Given the description of an element on the screen output the (x, y) to click on. 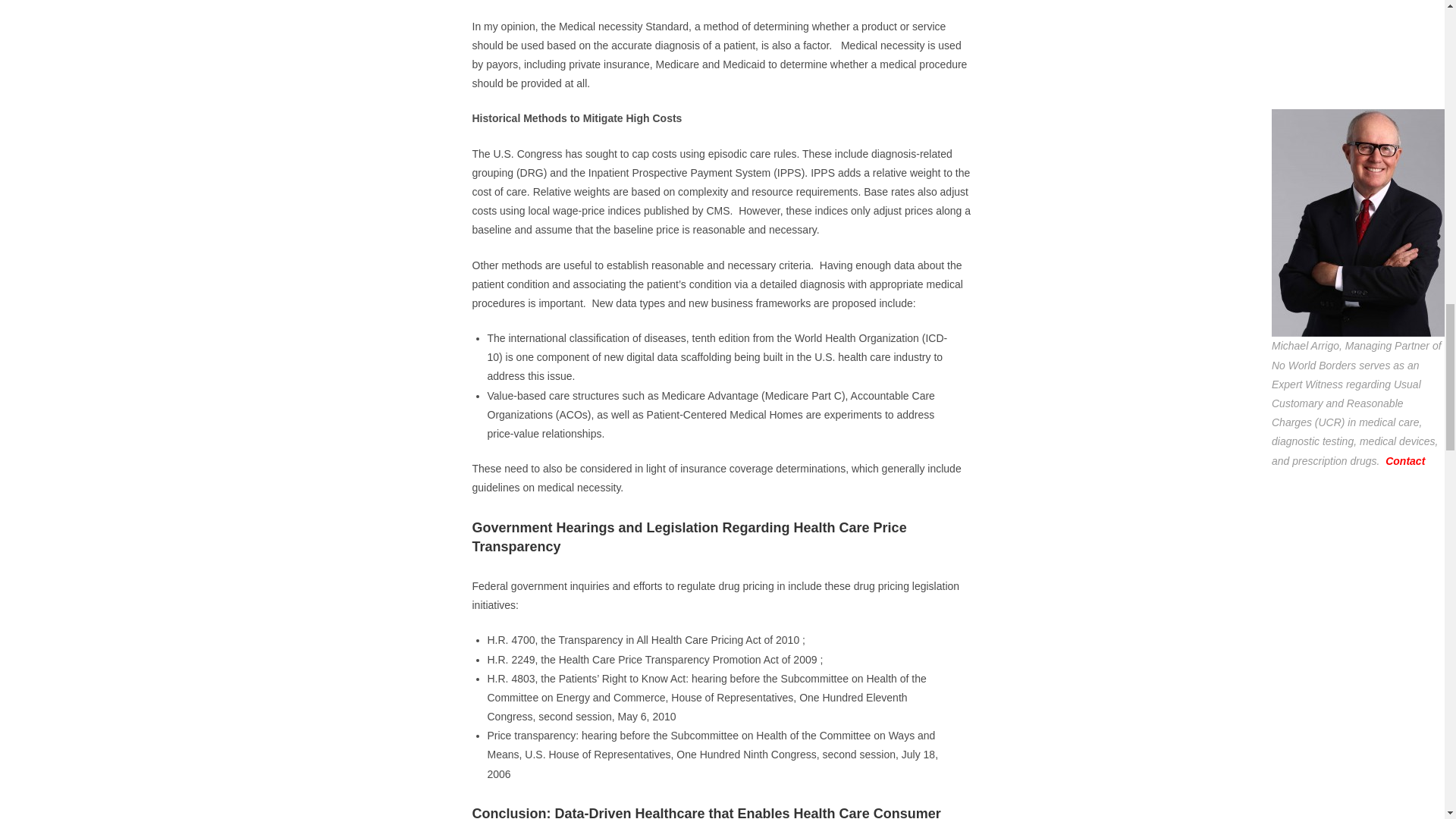
Contact (1405, 460)
